Given the description of an element on the screen output the (x, y) to click on. 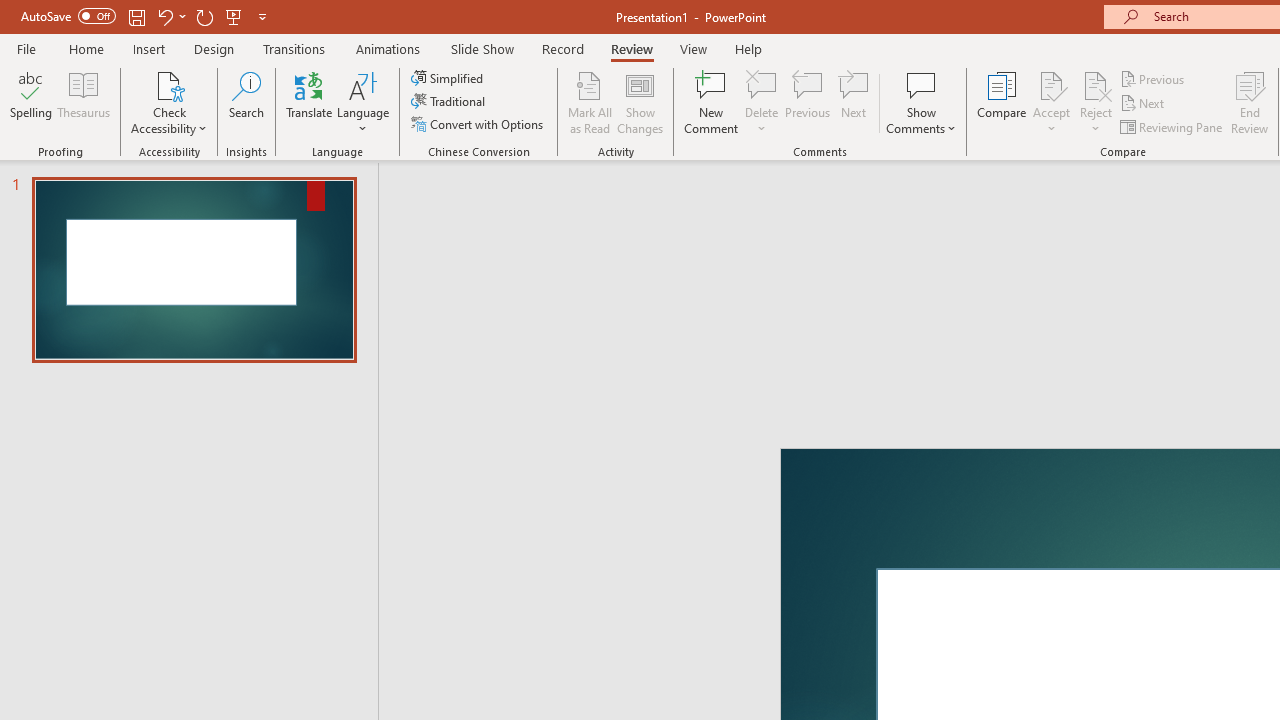
Simplified (449, 78)
Show Comments (921, 102)
Next (1144, 103)
Language (363, 102)
Show Comments (921, 84)
Thesaurus... (83, 102)
